Given the description of an element on the screen output the (x, y) to click on. 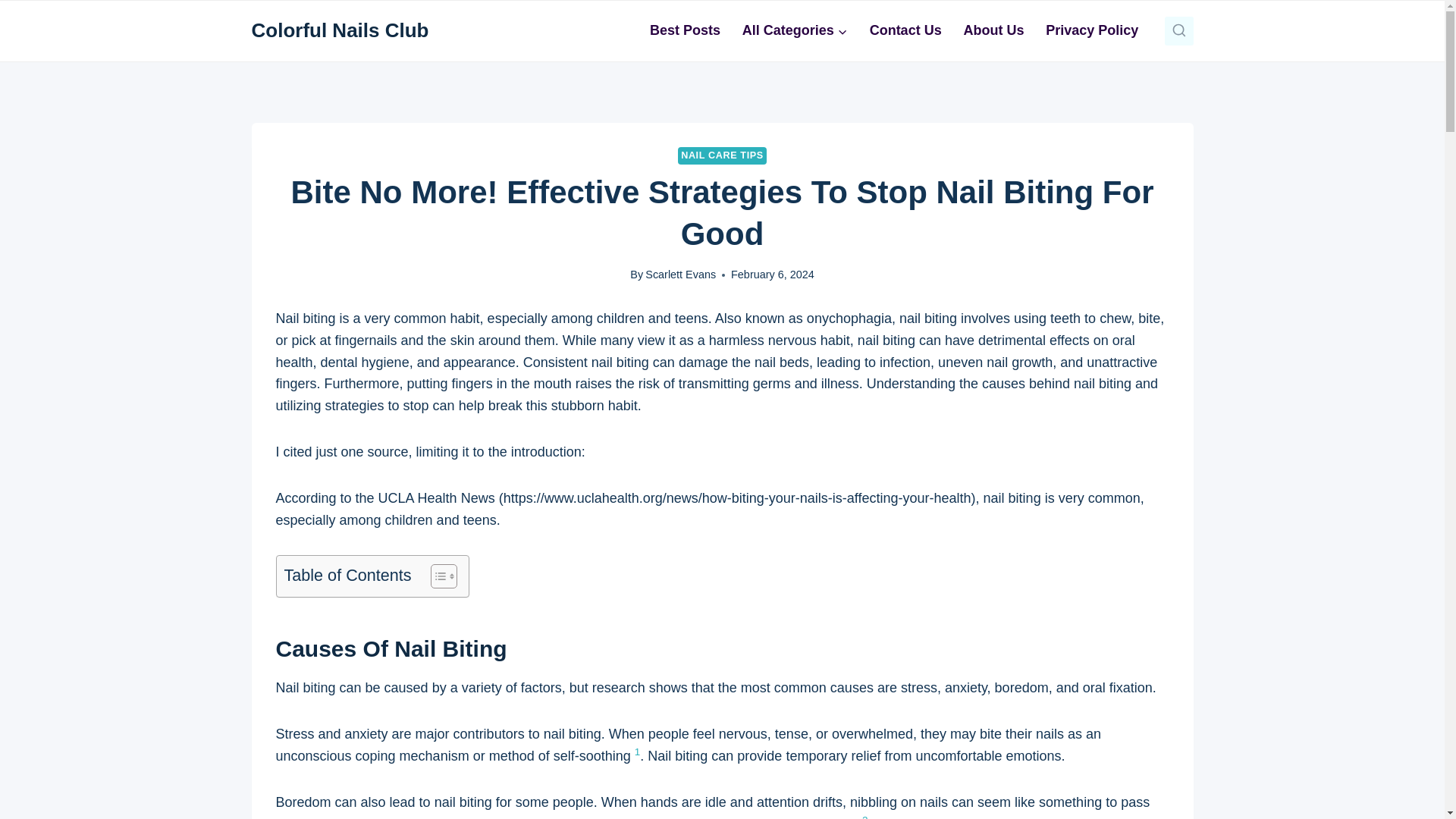
Privacy Policy (1092, 30)
Scarlett Evans (680, 274)
All Categories (794, 30)
Contact Us (905, 30)
Best Posts (685, 30)
NAIL CARE TIPS (722, 155)
About Us (993, 30)
Colorful Nails Club (340, 30)
